Given the description of an element on the screen output the (x, y) to click on. 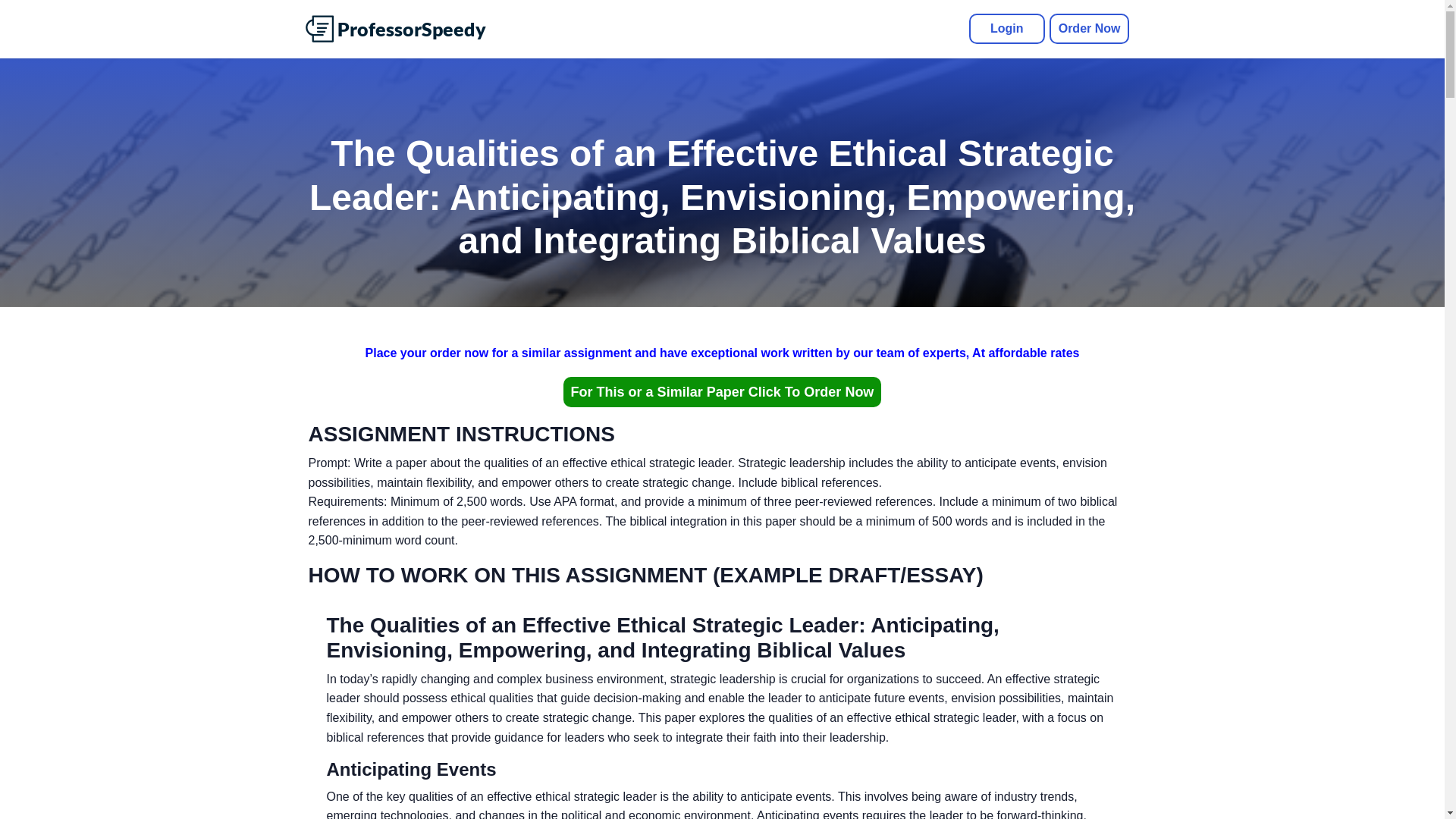
For This or a Similar Paper Click To Order Now (722, 391)
Login (1007, 28)
Order Now (1089, 28)
